Given the description of an element on the screen output the (x, y) to click on. 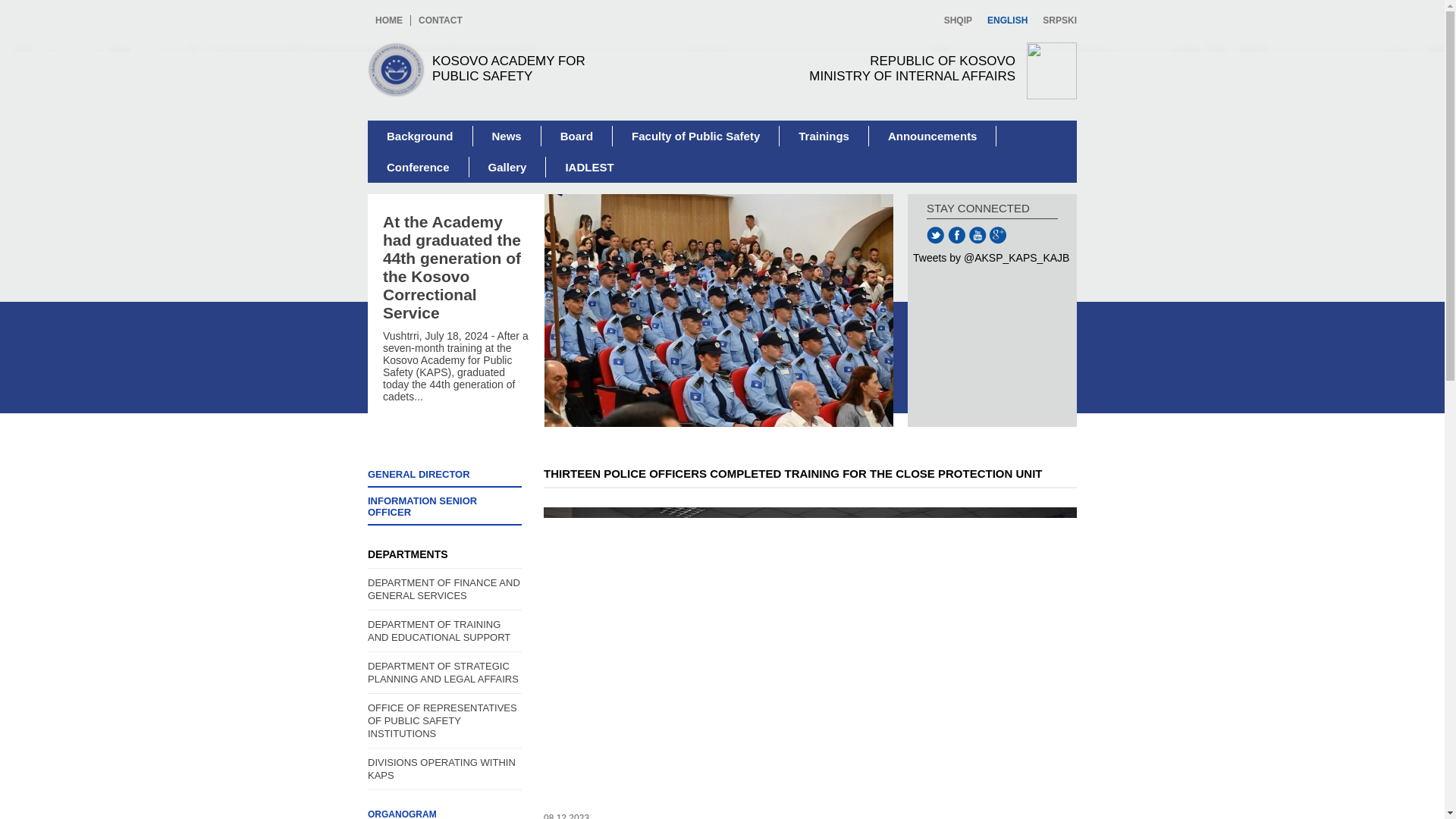
Announcements (933, 136)
DEPARTMENT OF TRAINING AND EDUCATIONAL SUPPORT (444, 630)
Board (576, 136)
Background (874, 70)
Trainings (420, 136)
IADLEST (823, 136)
SHQIP (588, 167)
CONTACT (957, 20)
News (440, 20)
ENGLISH (507, 136)
SRPSKI (1007, 20)
ORGANOGRAM (1056, 20)
Conference (444, 812)
GENERAL DIRECTOR (418, 167)
